Given the description of an element on the screen output the (x, y) to click on. 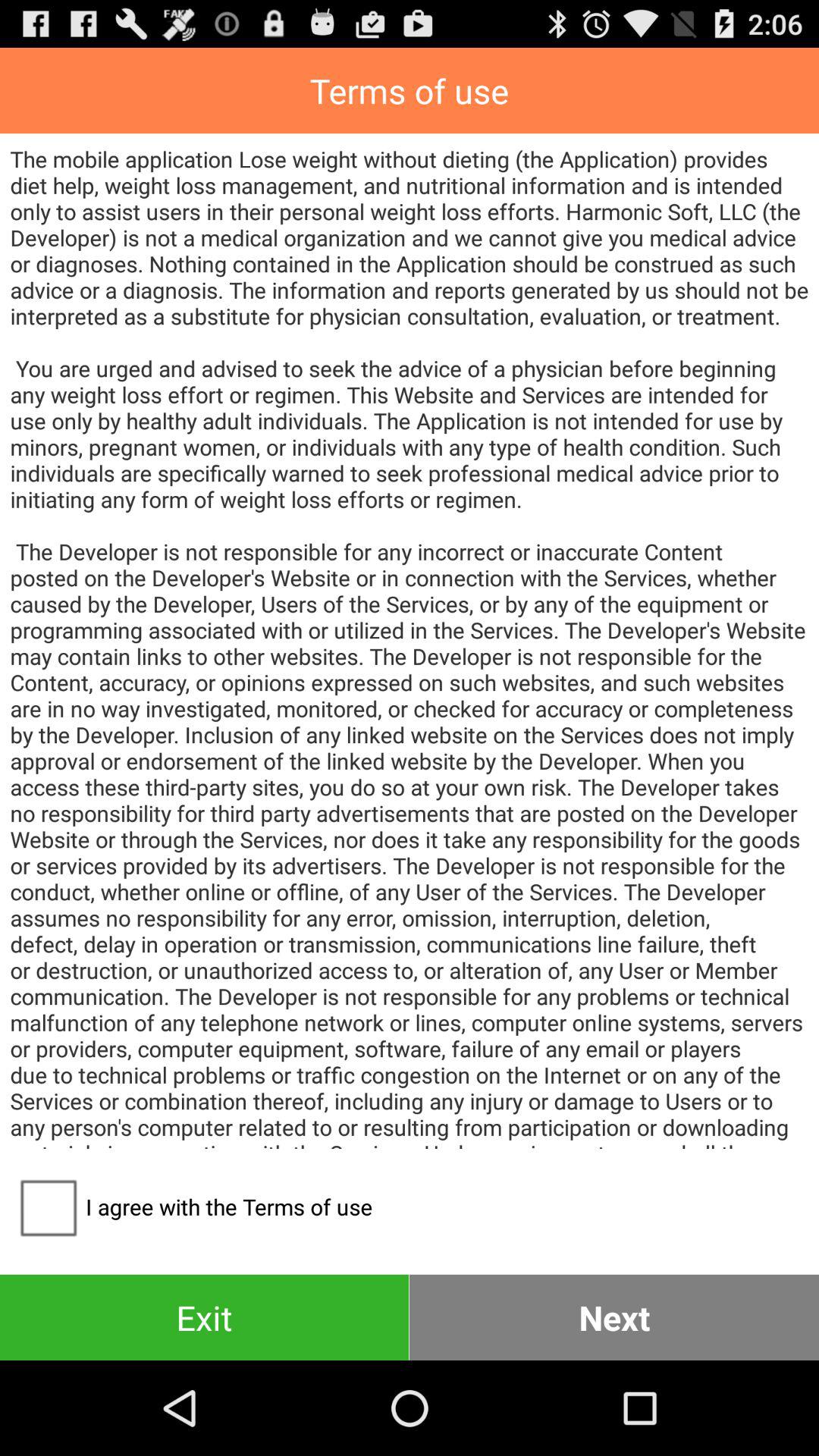
click item below the i agree with (204, 1317)
